Given the description of an element on the screen output the (x, y) to click on. 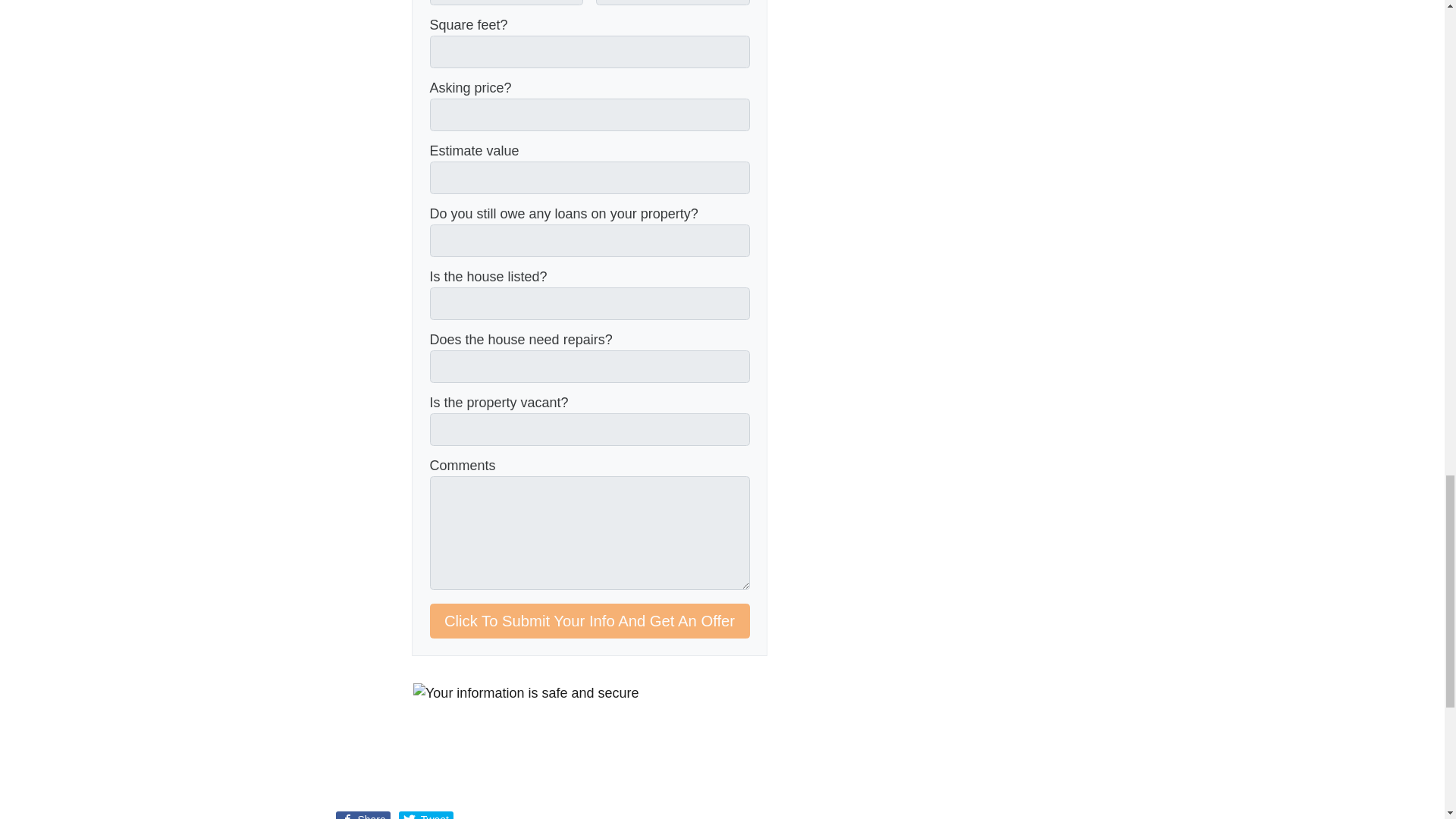
Share on Twitter (425, 815)
Tweet (425, 815)
Click To Submit Your Info And Get An Offer (589, 620)
Share on Facebook (362, 815)
Click To Submit Your Info And Get An Offer (589, 620)
Share (362, 815)
